Given the description of an element on the screen output the (x, y) to click on. 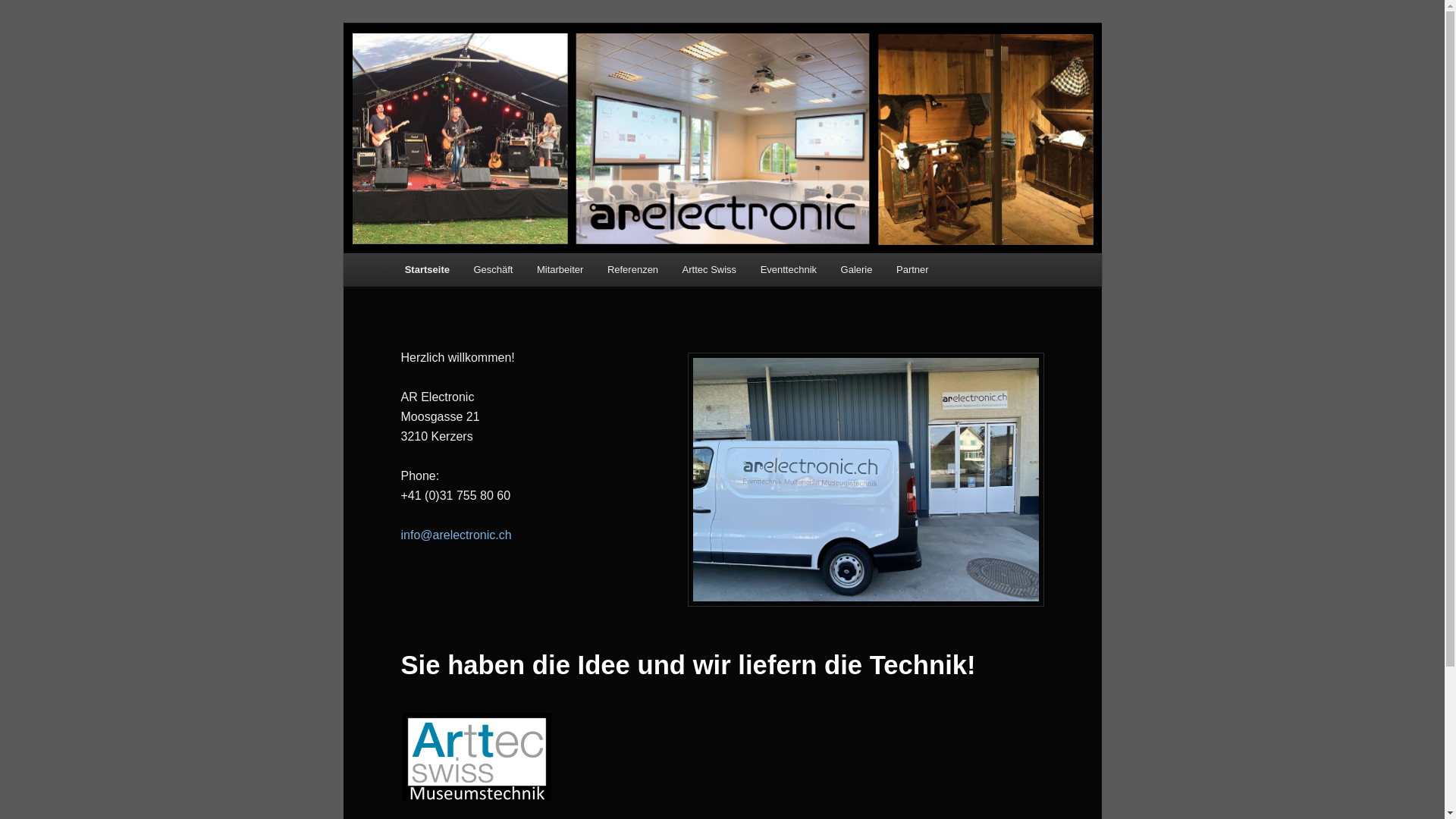
info@arelectronic.ch Element type: text (455, 534)
Startseite Element type: text (426, 269)
AR Electronic Element type: text (474, 78)
Galerie Element type: text (856, 269)
Zum Inhalt wechseln Element type: text (22, 22)
Partner Element type: text (912, 269)
Arttec Swiss Element type: text (709, 269)
Eventtechnik Element type: text (788, 269)
Mitarbeiter Element type: text (559, 269)
Referenzen Element type: text (632, 269)
